Given the description of an element on the screen output the (x, y) to click on. 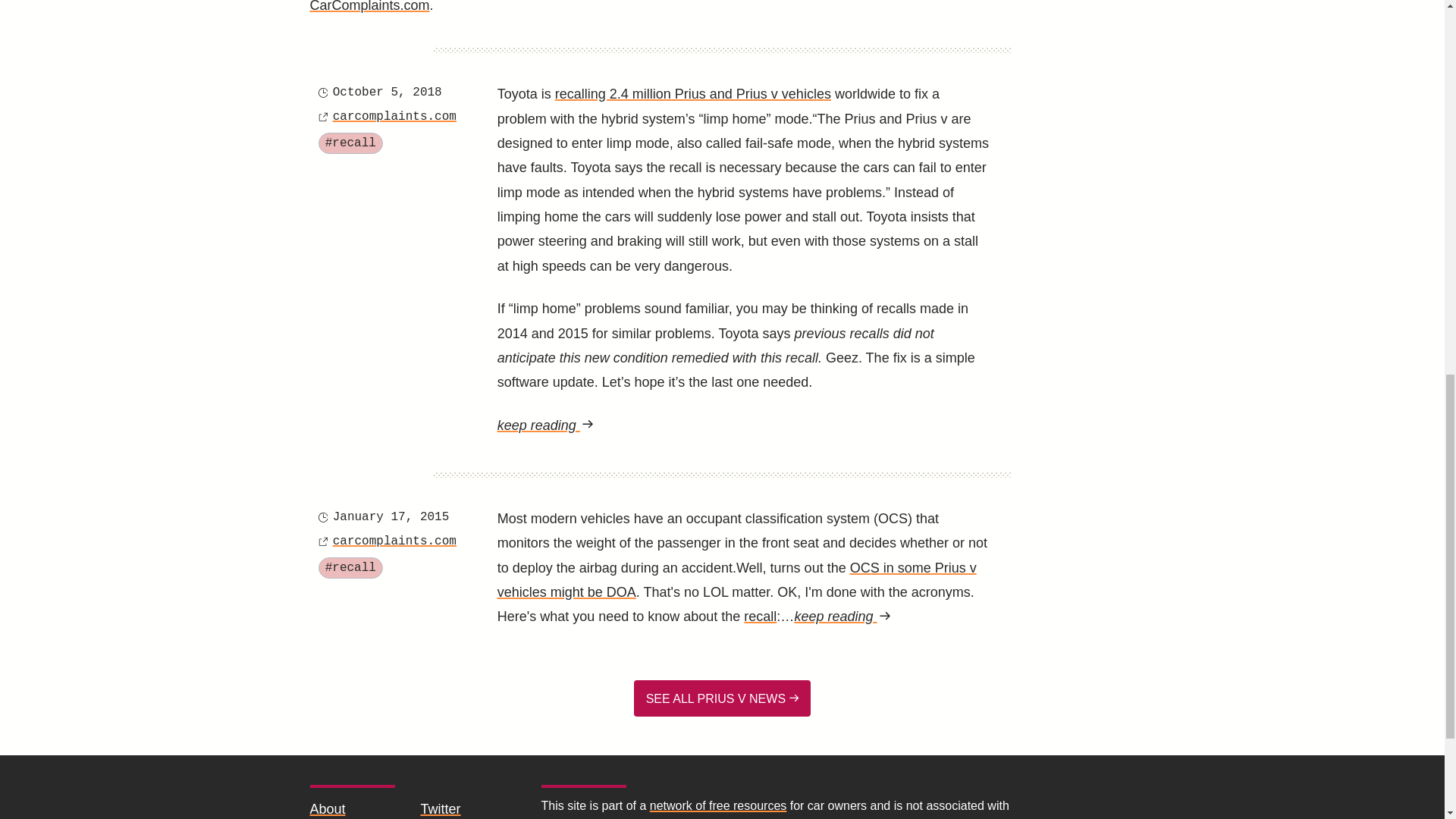
carcomplaints.com (395, 116)
SEE ALL PRIUS V NEWS (721, 698)
October 5, 2018 (387, 92)
CarComplaints.com Network (718, 805)
OCS in some Prius v vehicles might be DOA (736, 579)
CarComplaints.com (368, 6)
carcomplaints.com (395, 541)
Prius v Recalled for Airbag Problems (760, 616)
Source article on carcomplaints.com (395, 116)
